Given the description of an element on the screen output the (x, y) to click on. 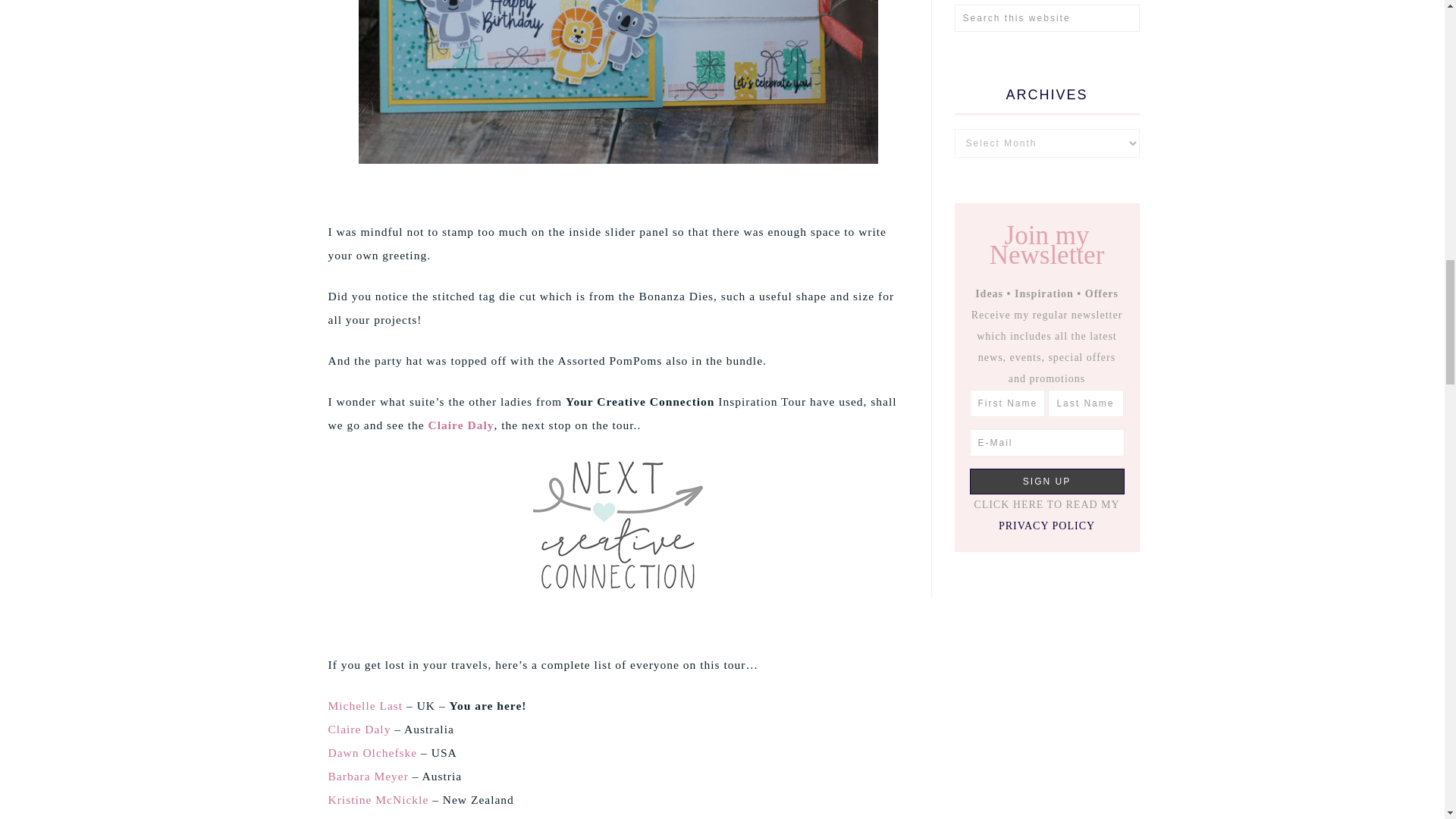
sign up (1046, 481)
Claire Daly (358, 728)
Michelle Last (365, 705)
Barbara Meyer (367, 775)
Claire Daly (461, 424)
Kristine McNickle (377, 799)
Dawn Olchefske (371, 752)
Jenn Tinline (360, 817)
